Given the description of an element on the screen output the (x, y) to click on. 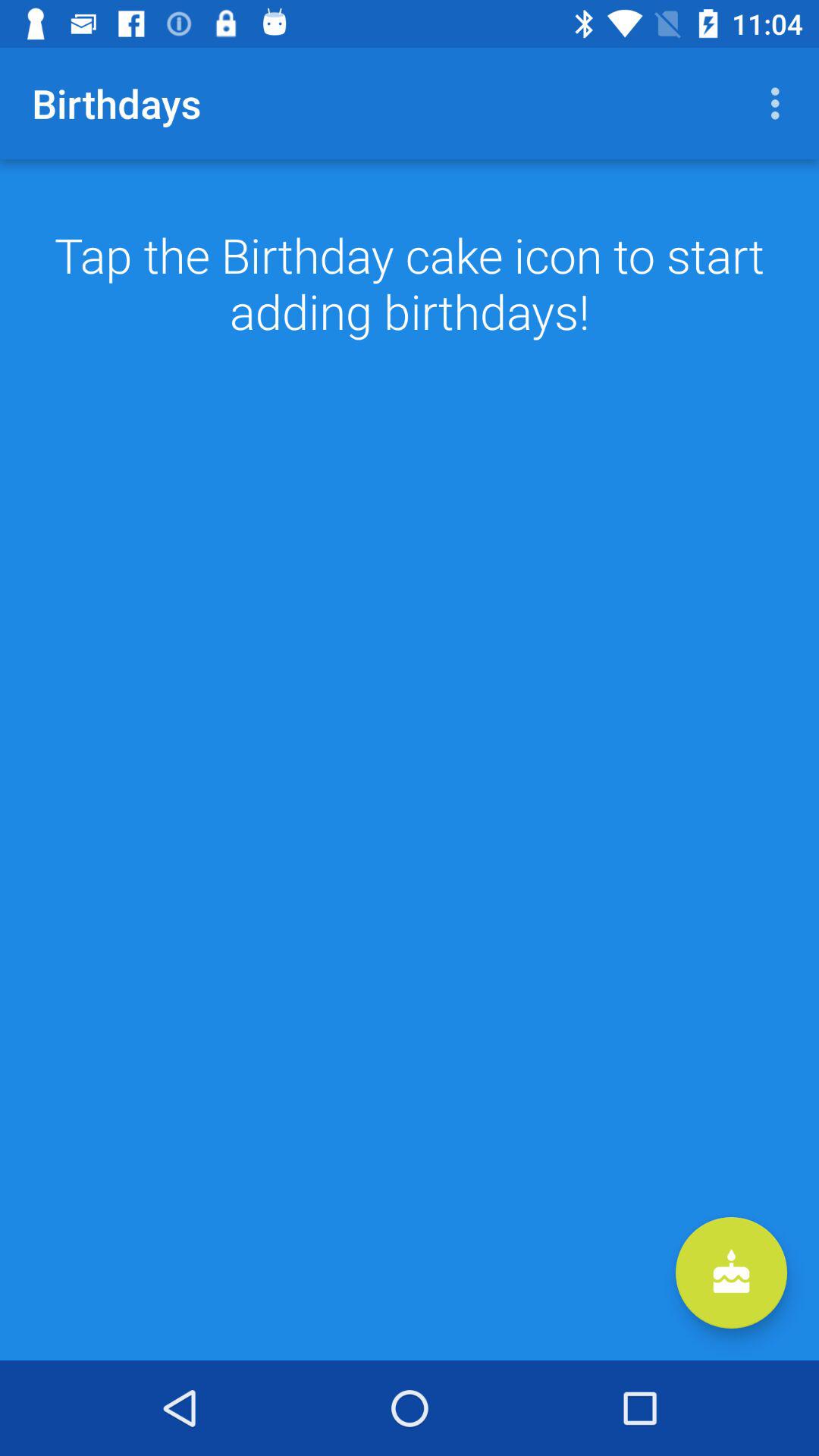
select app to the right of the birthdays app (779, 103)
